Given the description of an element on the screen output the (x, y) to click on. 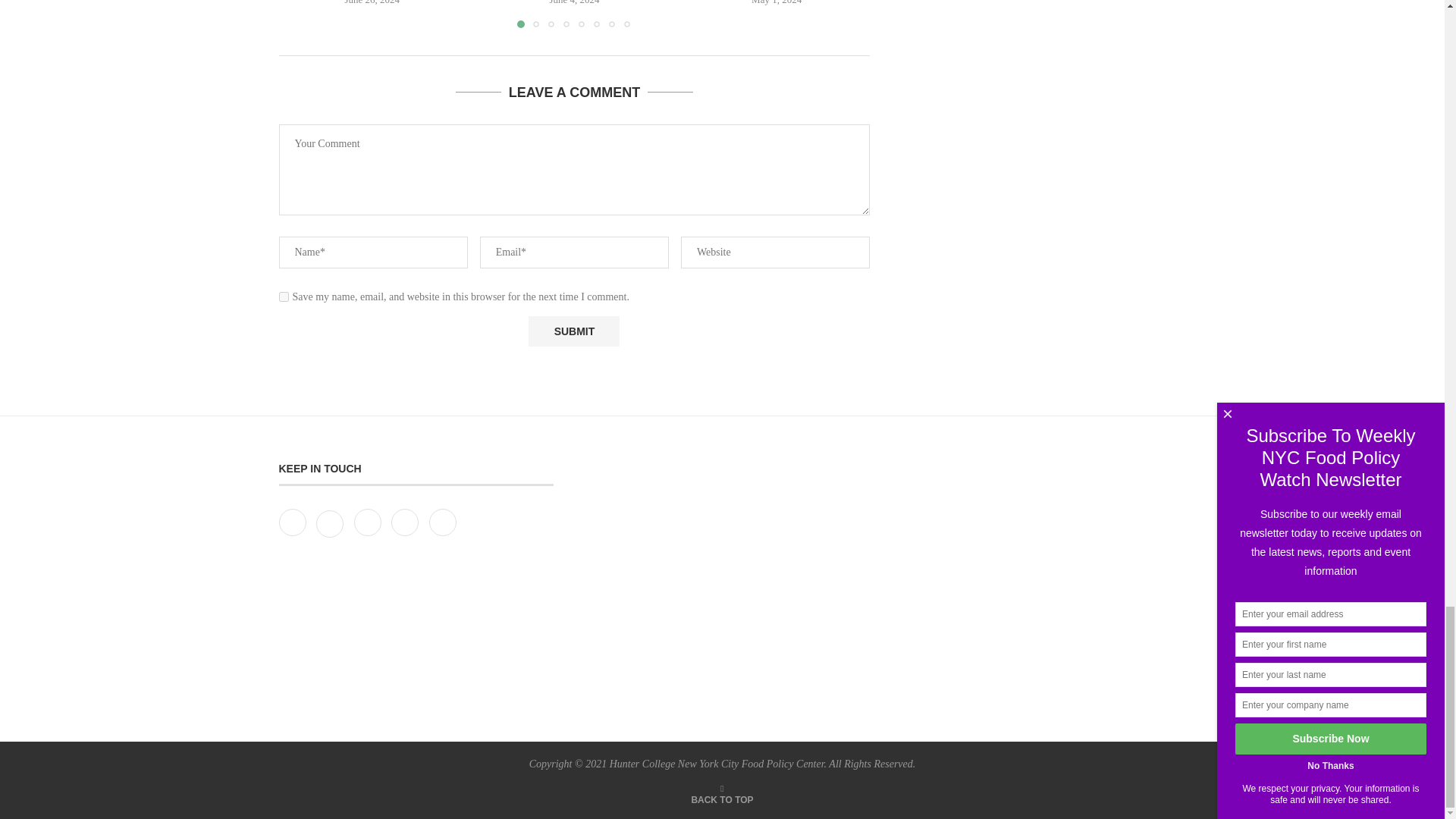
Submit (574, 331)
yes (283, 296)
